Given the description of an element on the screen output the (x, y) to click on. 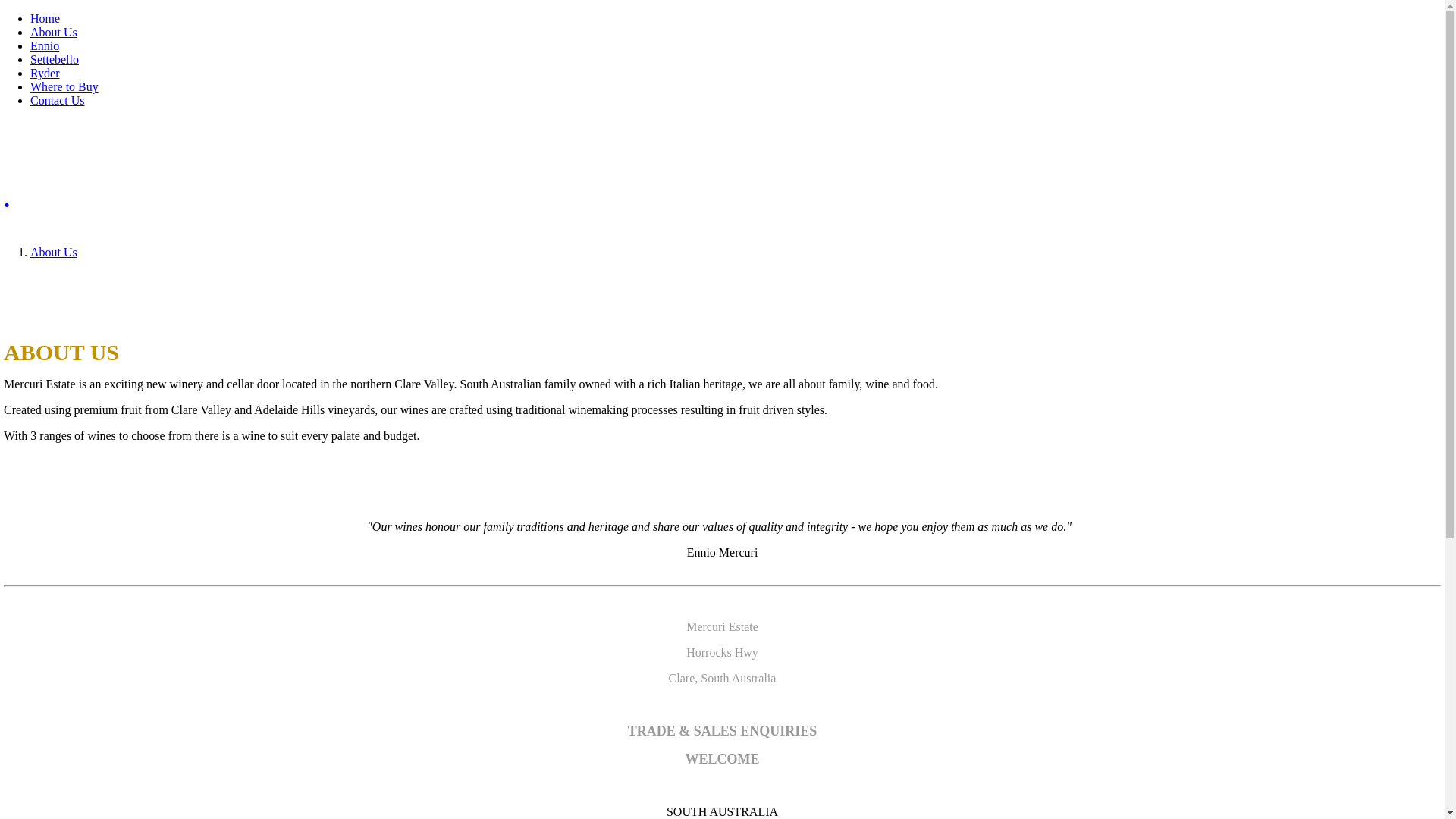
About Us Element type: text (53, 31)
Home Element type: text (44, 18)
Where to Buy Element type: text (64, 86)
About Us Element type: text (53, 251)
Ryder Element type: text (44, 72)
Settebello Element type: text (54, 59)
. Element type: text (721, 199)
Contact Us Element type: text (57, 100)
Ennio Element type: text (44, 45)
